Given the description of an element on the screen output the (x, y) to click on. 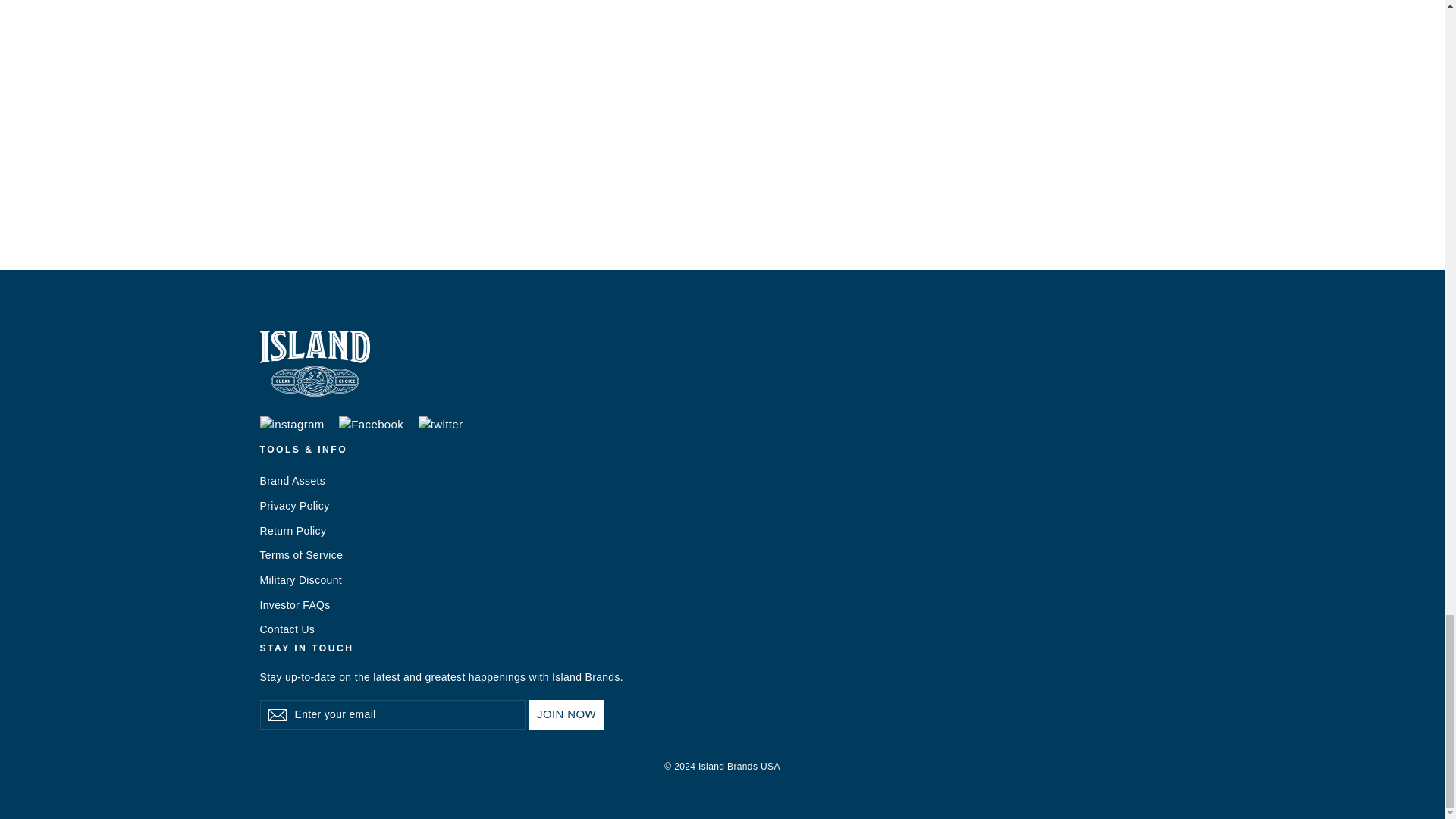
Island Brands on Facebook (371, 425)
Island Brands on Twitter (441, 425)
Island Coastal Lager on Instagram (291, 425)
